Given the description of an element on the screen output the (x, y) to click on. 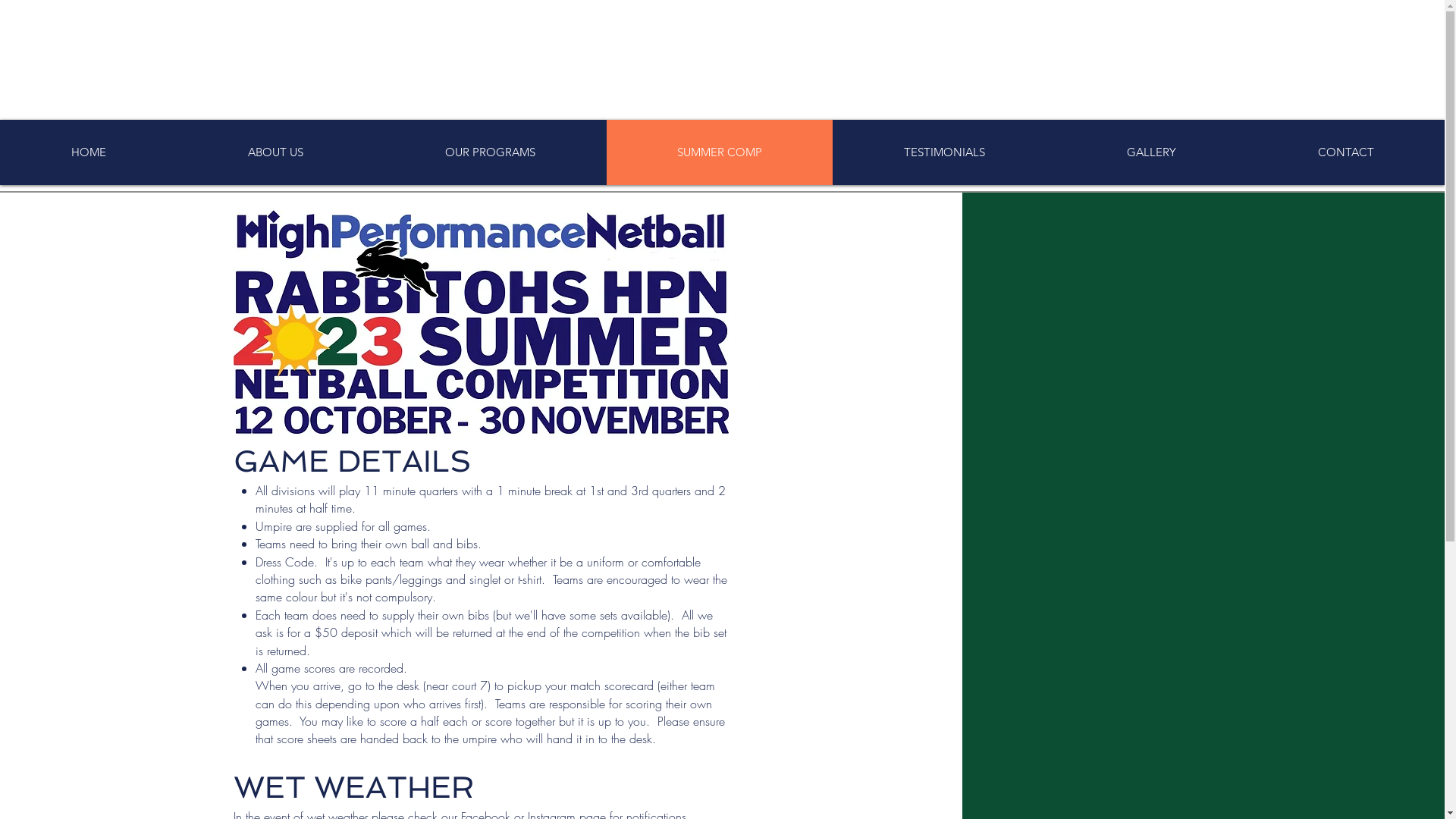
CONTACT Element type: text (1345, 152)
OUR PROGRAMS Element type: text (489, 152)
SUMMER COMP Element type: text (718, 152)
GALLERY Element type: text (1150, 152)
ABOUT US Element type: text (274, 152)
HOME Element type: text (88, 152)
TESTIMONIALS Element type: text (943, 152)
